Given the description of an element on the screen output the (x, y) to click on. 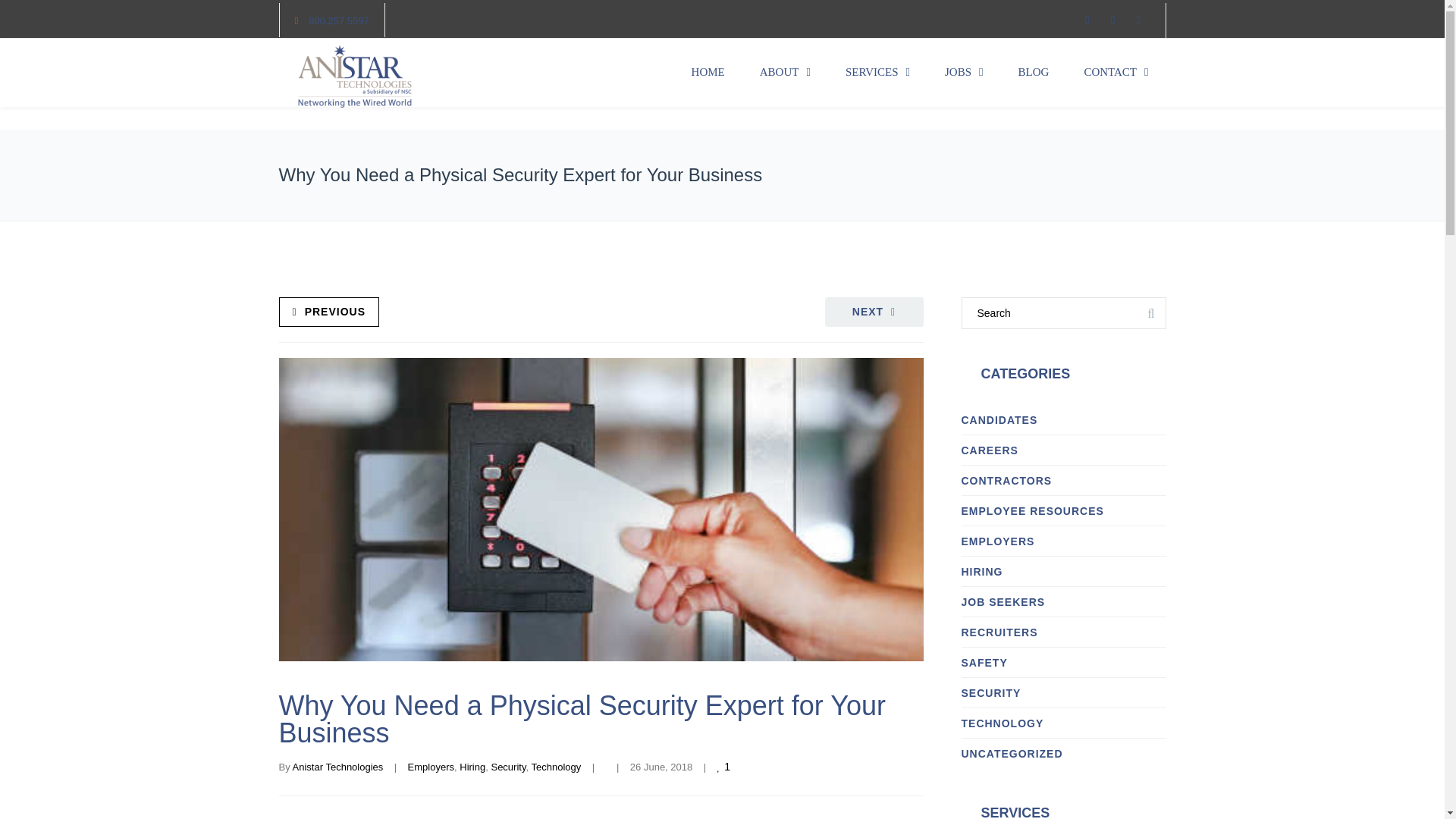
Anistar Technologies (338, 767)
CONTACT (1115, 72)
800.257.5597 (338, 20)
HOME (708, 72)
SERVICES (877, 72)
ABOUT (785, 72)
Anistar (354, 75)
PREVIOUS (328, 311)
NEXT (874, 311)
Why You Need a Physical Security Expert for Your Business (582, 719)
Posts by Anistar Technologies (338, 767)
BLOG (1034, 72)
JOBS (964, 72)
